Given the description of an element on the screen output the (x, y) to click on. 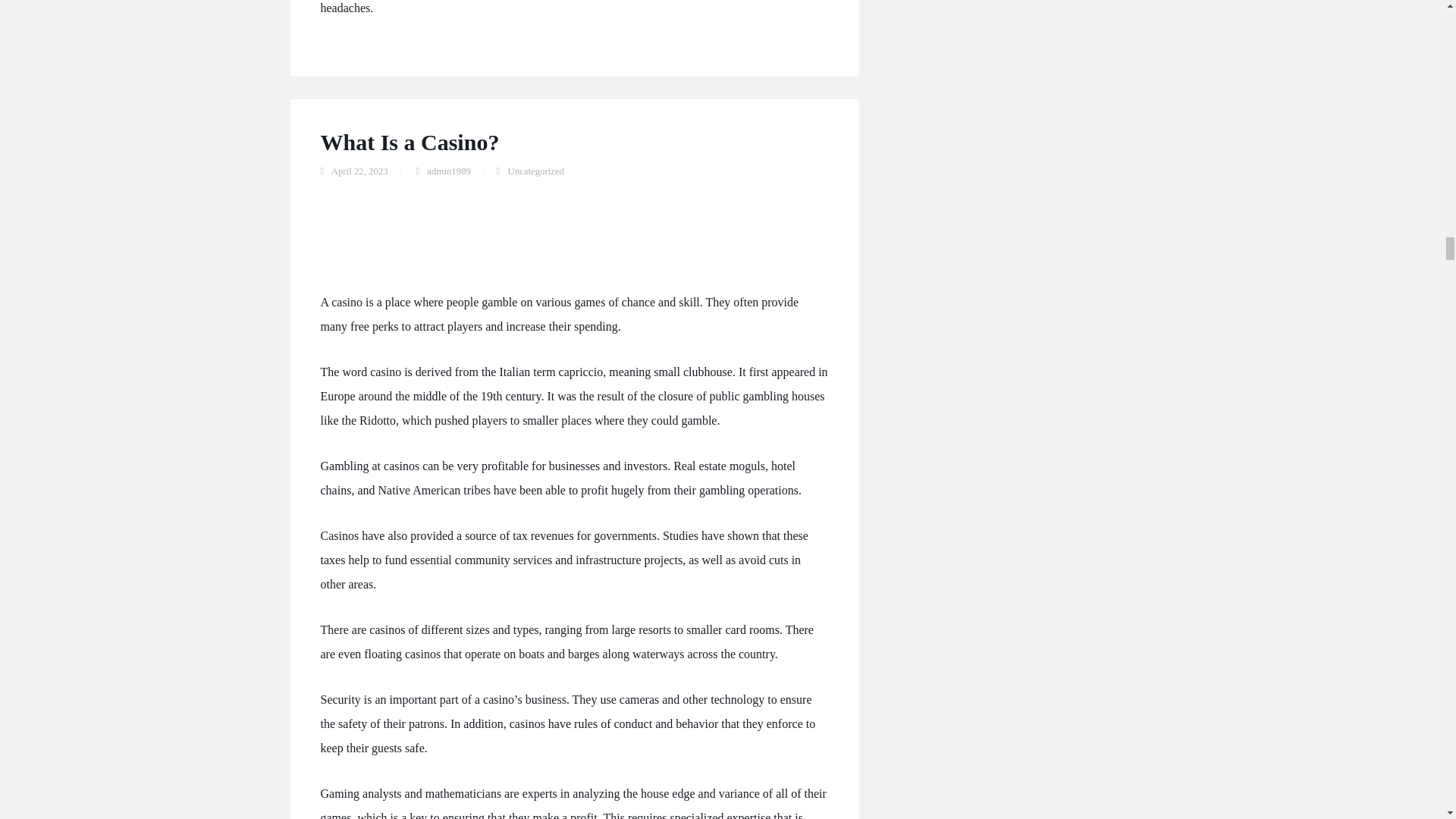
admin1989 (448, 171)
What Is a Casino? (409, 141)
April 22, 2023 (359, 171)
